Given the description of an element on the screen output the (x, y) to click on. 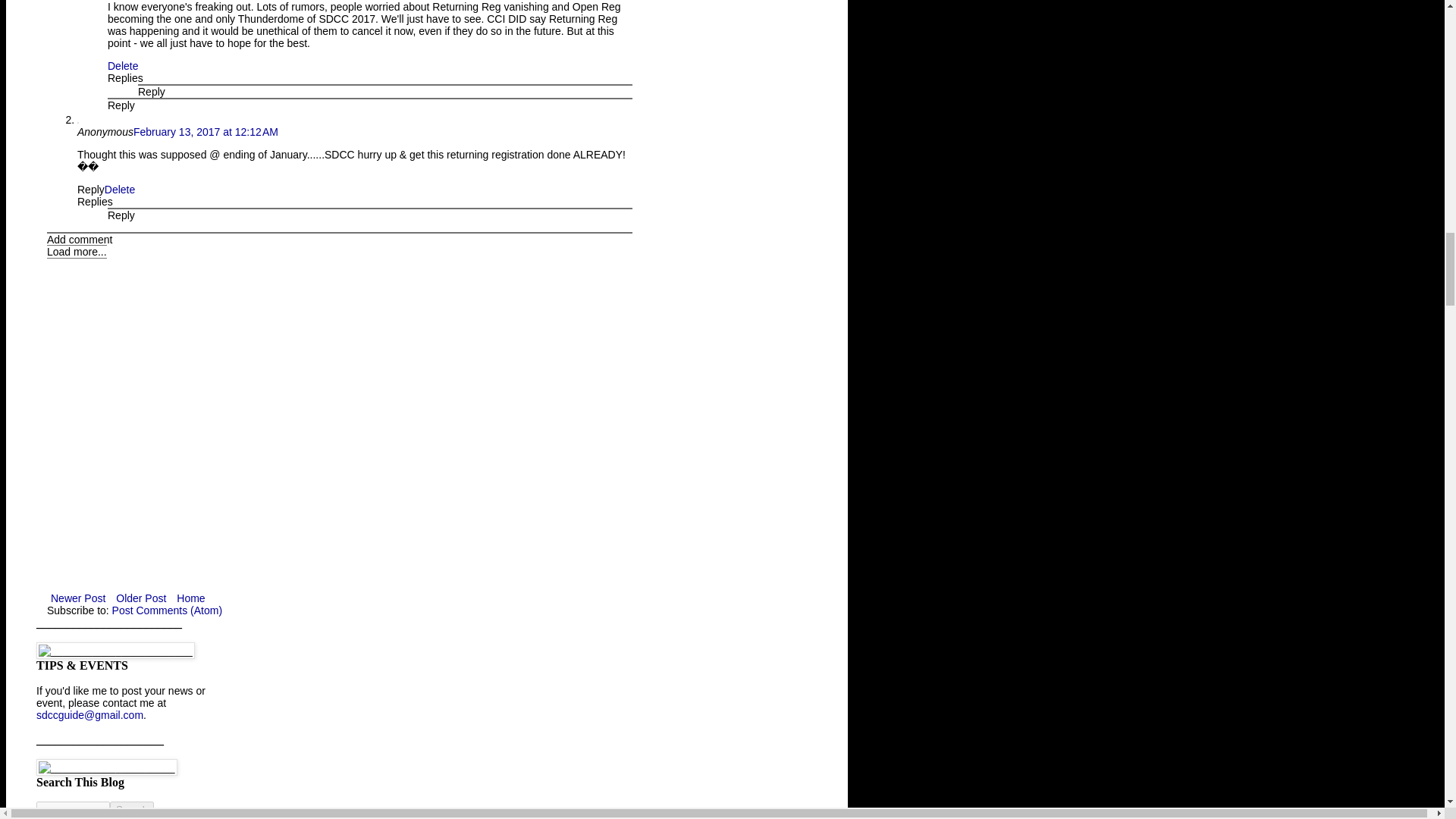
Delete (119, 189)
search (73, 809)
Replies (124, 78)
Delete (122, 65)
Search (132, 809)
search (132, 809)
Older Post (141, 598)
Newer Post (77, 598)
Reply (121, 215)
Search (132, 809)
Reply (151, 91)
Replies (95, 201)
Reply (90, 189)
Reply (121, 105)
